Given the description of an element on the screen output the (x, y) to click on. 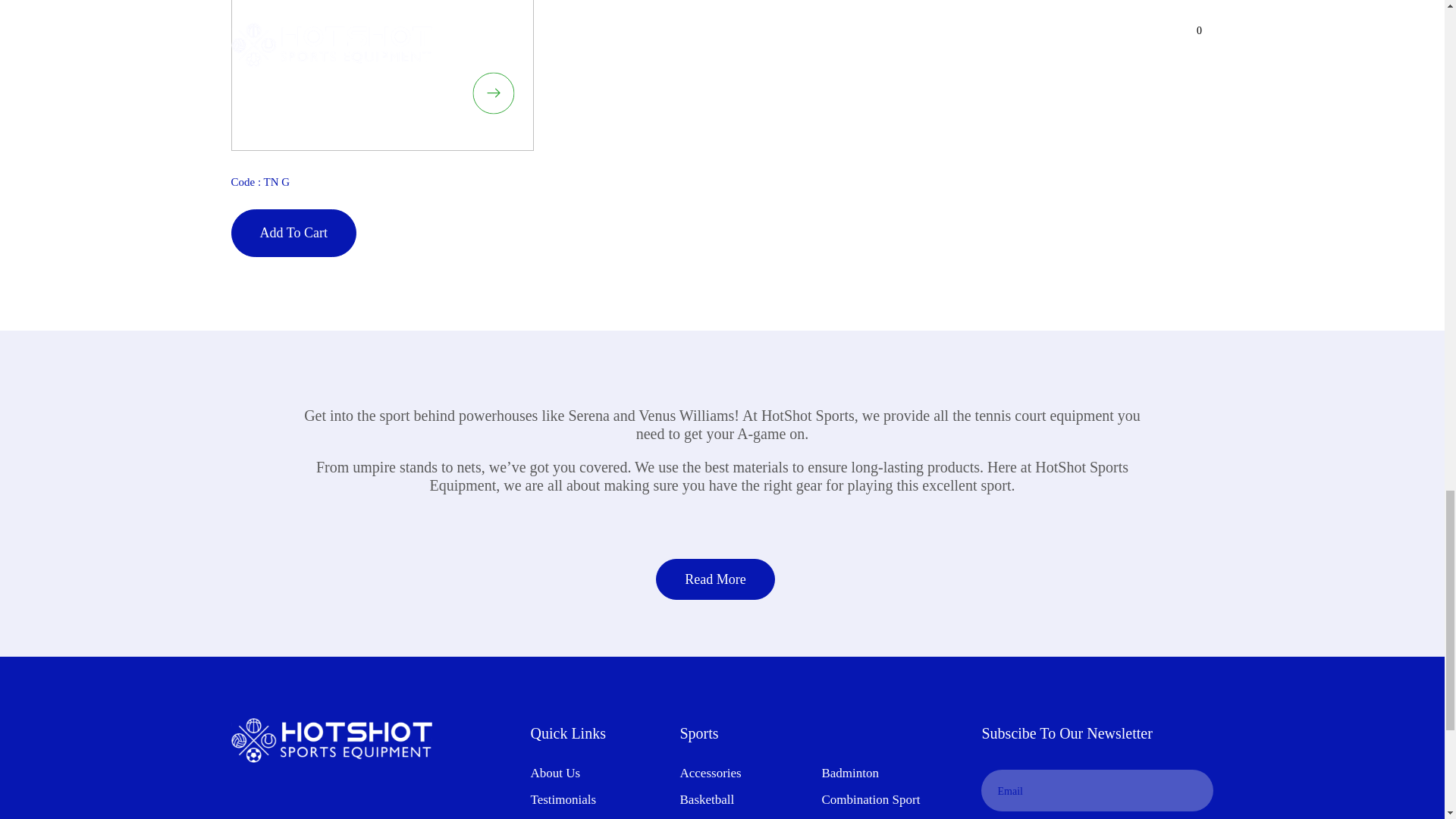
Send (1192, 790)
